Given the description of an element on the screen output the (x, y) to click on. 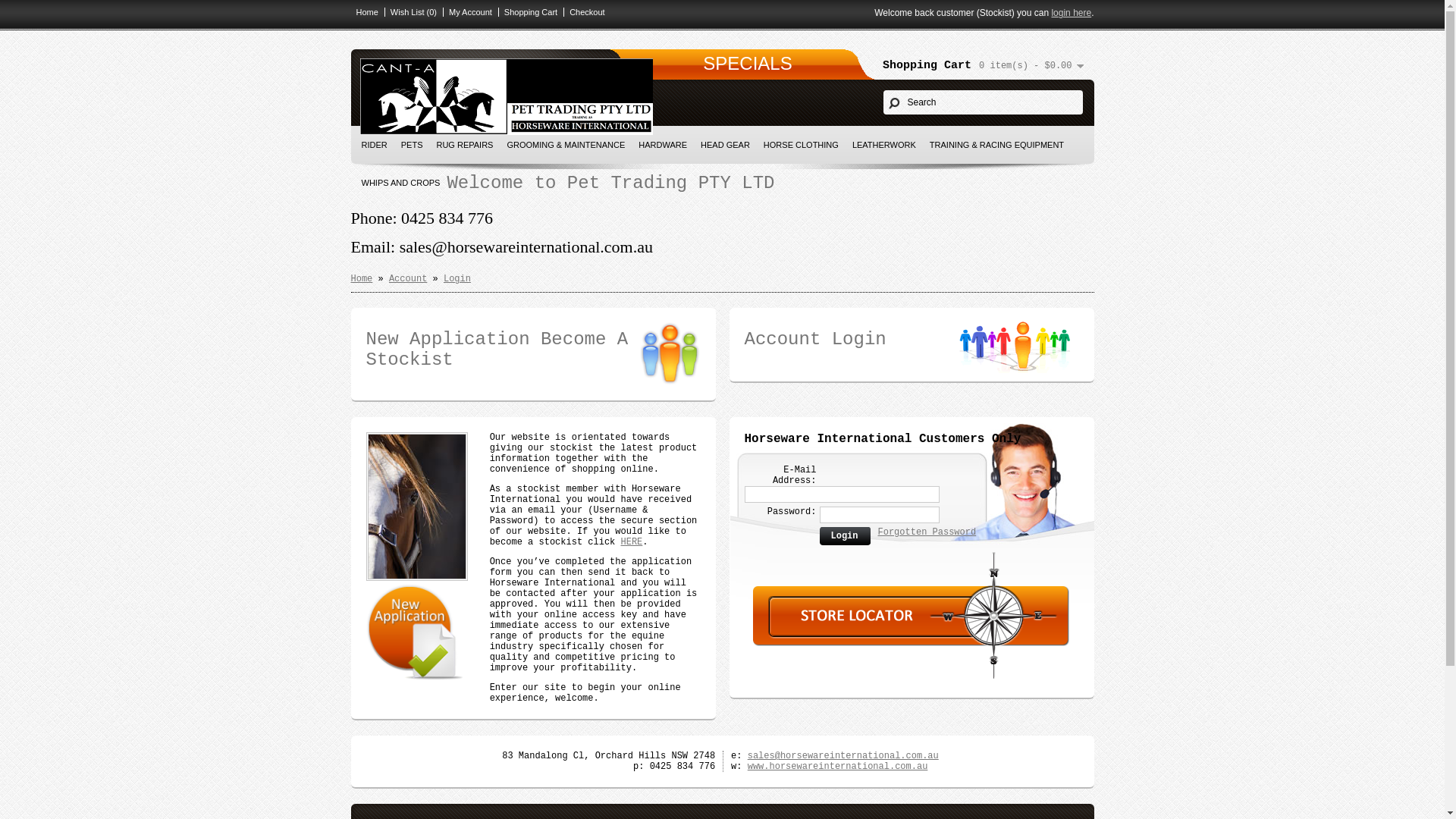
Home Element type: text (361, 278)
WHIPS AND CROPS Element type: text (400, 182)
TRAINING & RACING EQUIPMENT Element type: text (996, 144)
SPECIALS Element type: text (746, 63)
www.horsewareinternational.com.au Element type: text (837, 766)
PETS Element type: text (411, 144)
0 item(s) - $0.00 Element type: text (1030, 65)
New Application Become A Stockist Element type: text (532, 349)
HEAD GEAR Element type: text (724, 144)
GROOMING & MAINTENANCE Element type: text (565, 144)
Home Element type: text (363, 11)
Pet Trading PTY LTD Element type: hover (505, 96)
Account Element type: text (407, 278)
Search Element type: text (982, 102)
LEATHERWORK Element type: text (883, 144)
Find your nearest store. (Stockist) Element type: hover (910, 643)
Forgotten Password Element type: text (927, 532)
My Account Element type: text (467, 11)
login here Element type: text (1071, 12)
Wish List (0) Element type: text (410, 11)
Login Element type: text (456, 278)
HERE Element type: text (631, 541)
HARDWARE Element type: text (662, 144)
RIDER Element type: text (374, 144)
Login Element type: text (844, 536)
Shopping Cart Element type: text (527, 11)
RUG REPAIRS Element type: text (464, 144)
Checkout Element type: text (583, 11)
sales@horsewareinternational.com.au Element type: text (842, 755)
HORSE CLOTHING Element type: text (800, 144)
